Given the description of an element on the screen output the (x, y) to click on. 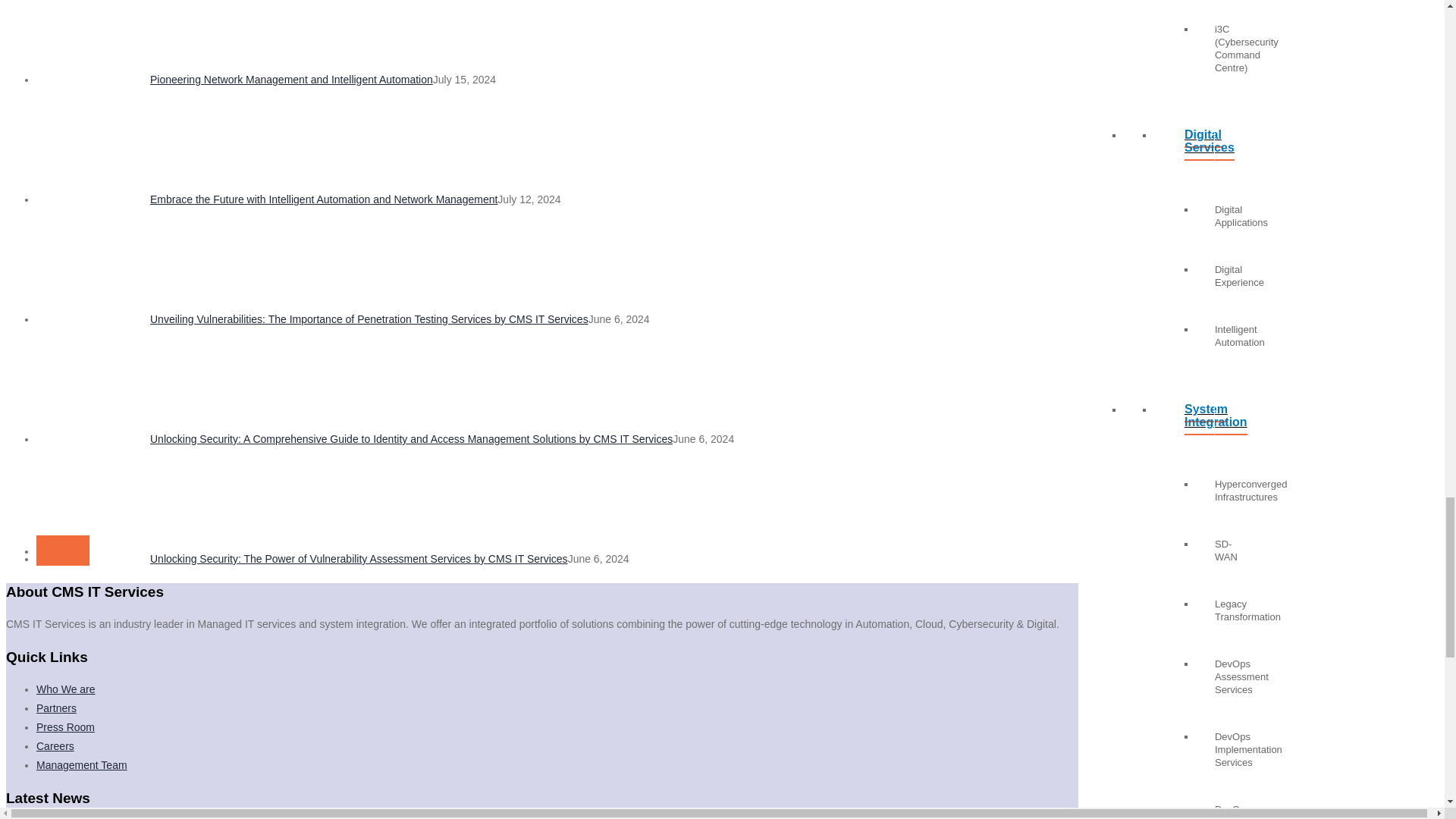
Digital Services (1185, 147)
